Given the description of an element on the screen output the (x, y) to click on. 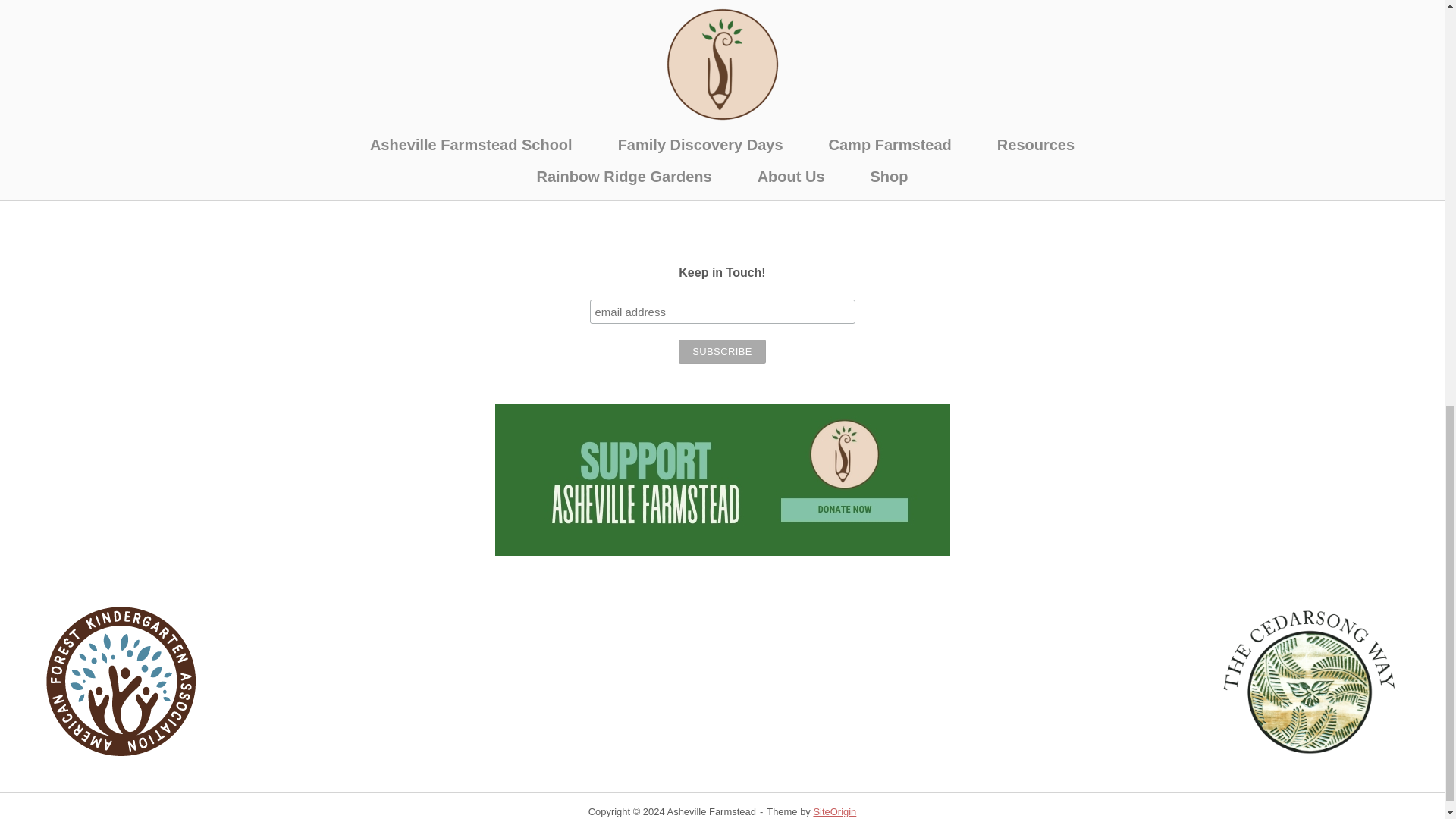
Subscribe (721, 351)
Post Comment (403, 175)
yes (347, 142)
SiteOrigin (834, 811)
Subscribe (721, 351)
Post Comment (403, 175)
